Given the description of an element on the screen output the (x, y) to click on. 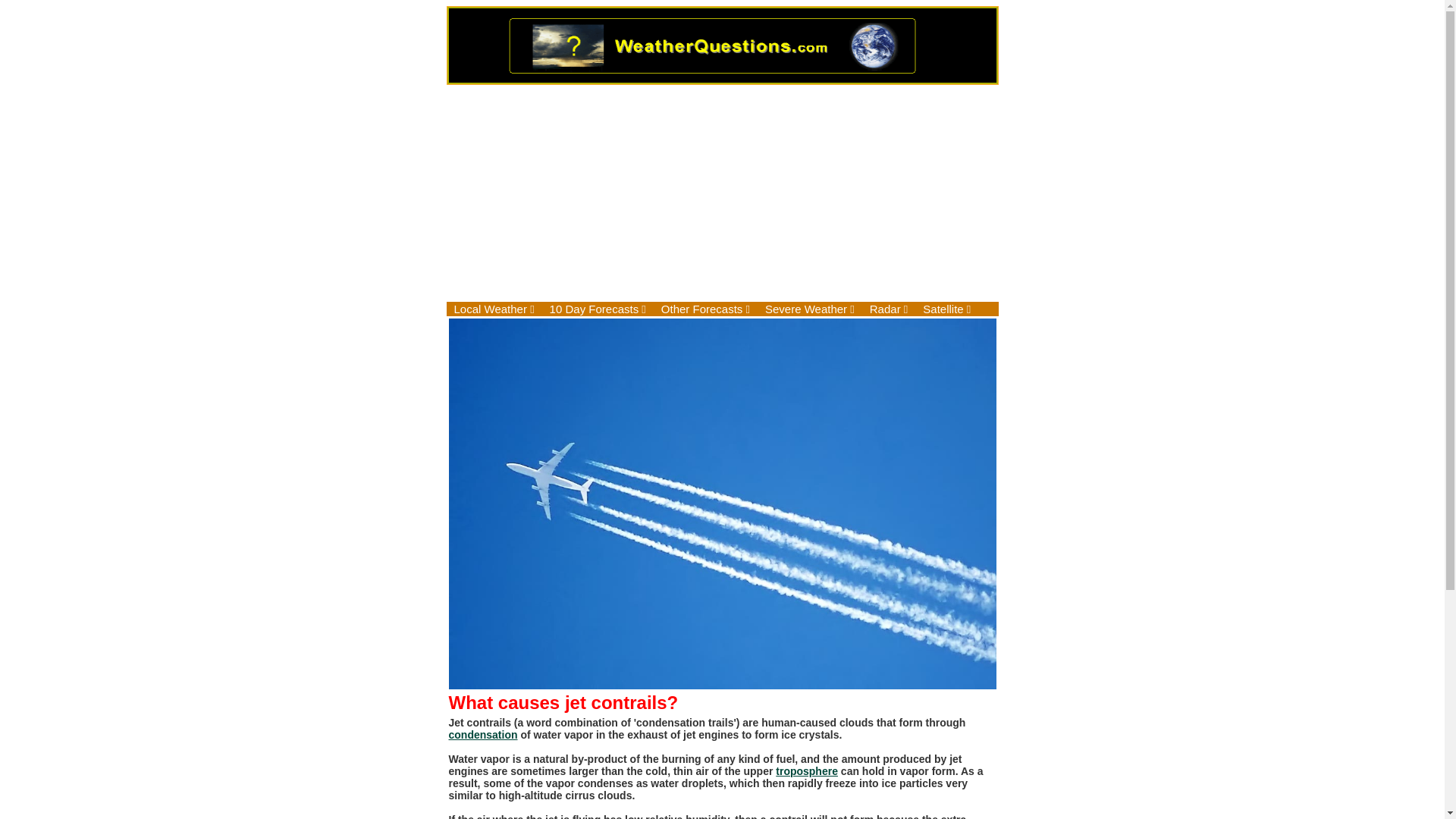
Advertisement (721, 192)
Other Forecasts (705, 309)
Local Weather (493, 309)
10 Day Forecasts (597, 309)
WeatherQuestions.com home (721, 79)
